Given the description of an element on the screen output the (x, y) to click on. 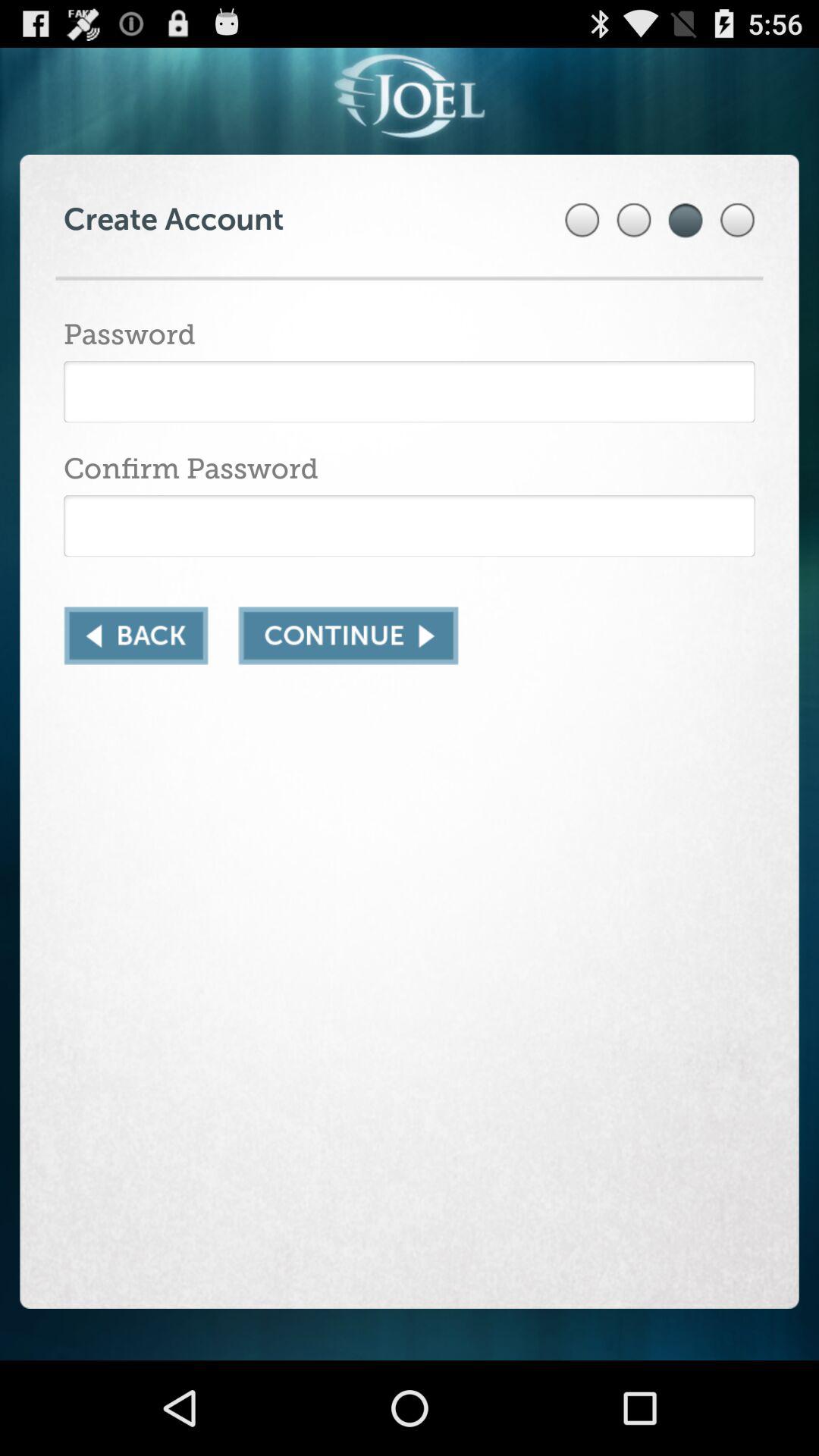
enter password here (409, 391)
